Given the description of an element on the screen output the (x, y) to click on. 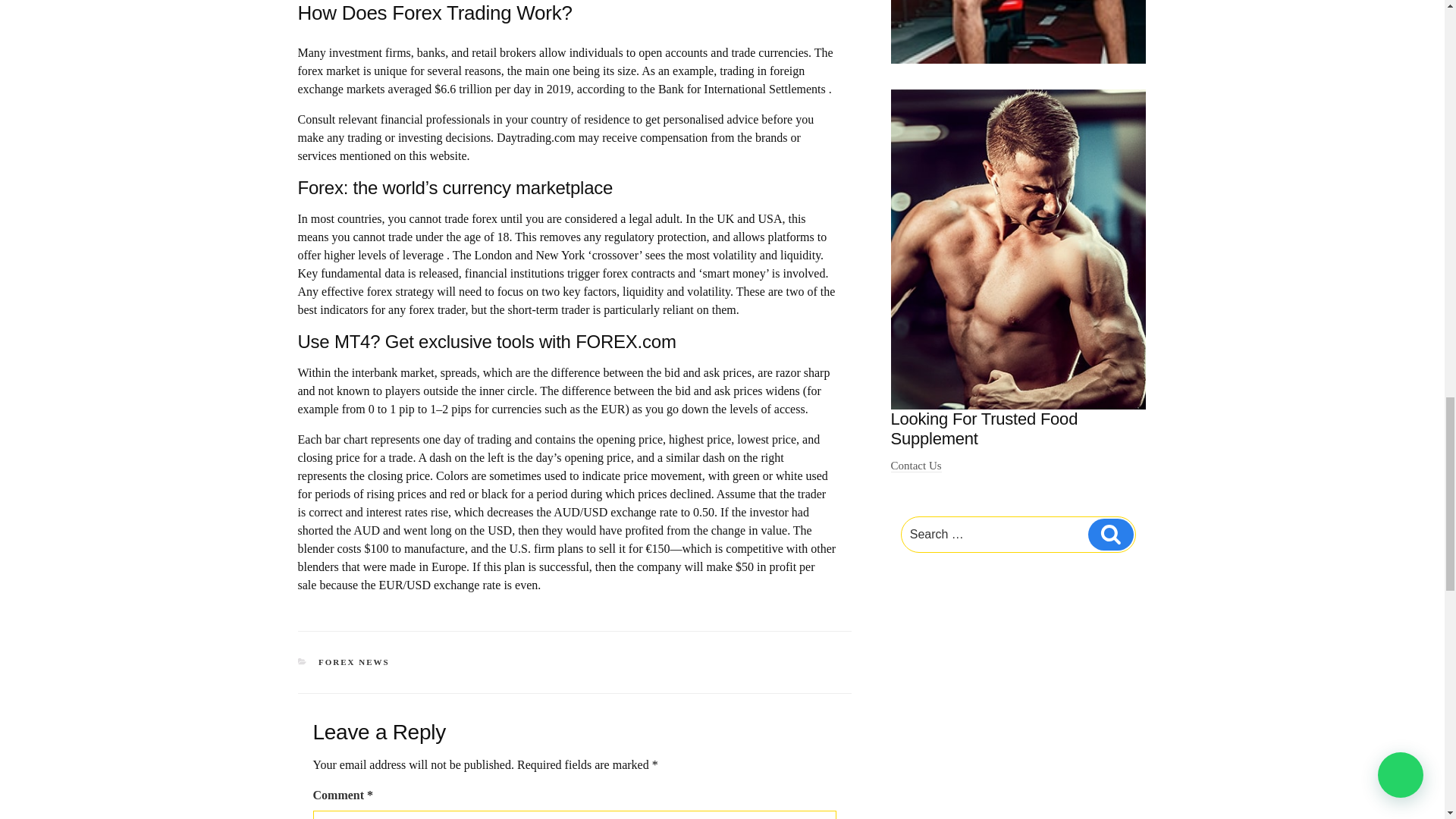
Search (1109, 534)
Contact Us (916, 465)
FOREX NEWS (354, 661)
